Given the description of an element on the screen output the (x, y) to click on. 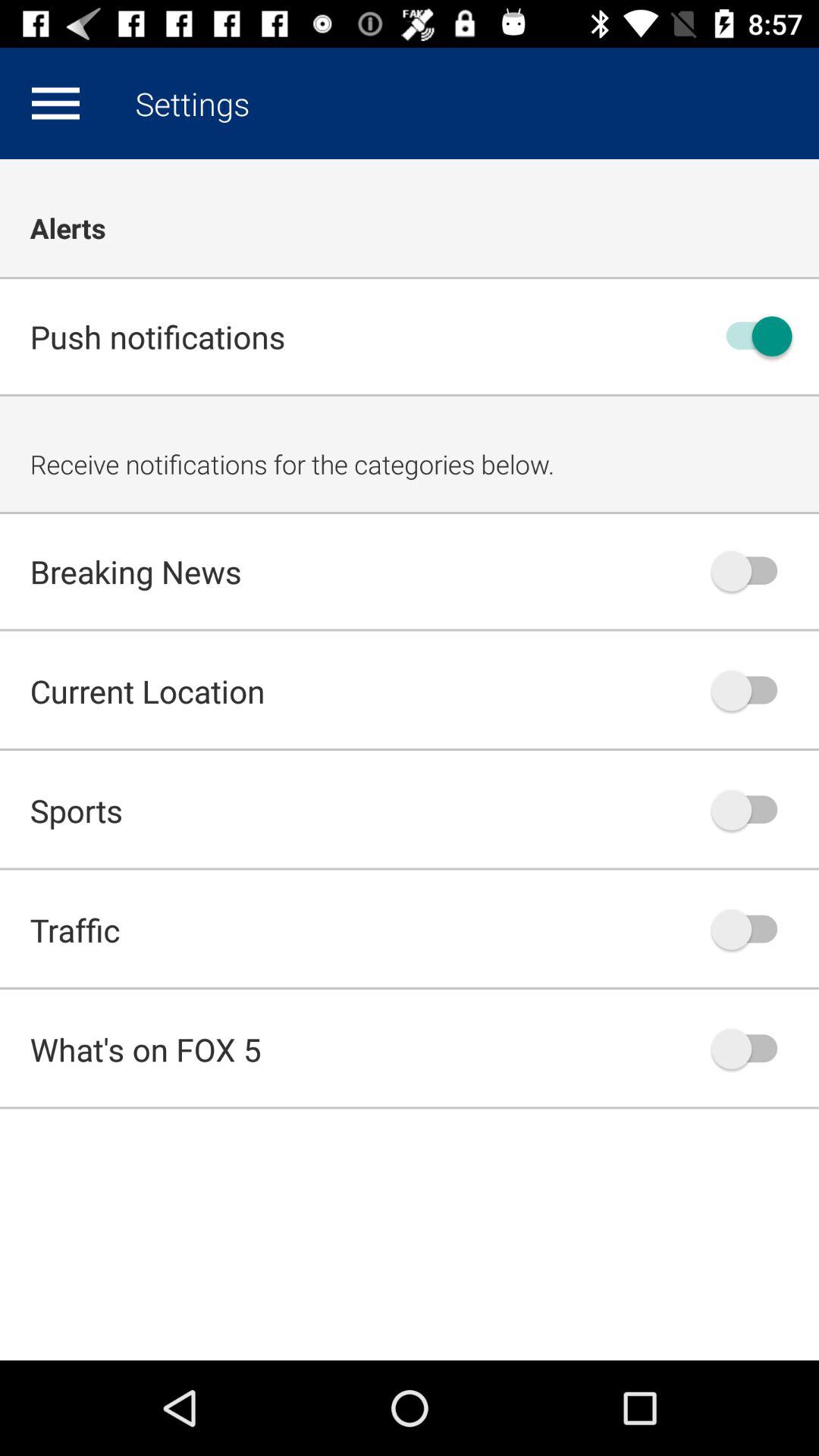
toggle push notifications for sports (751, 810)
